Given the description of an element on the screen output the (x, y) to click on. 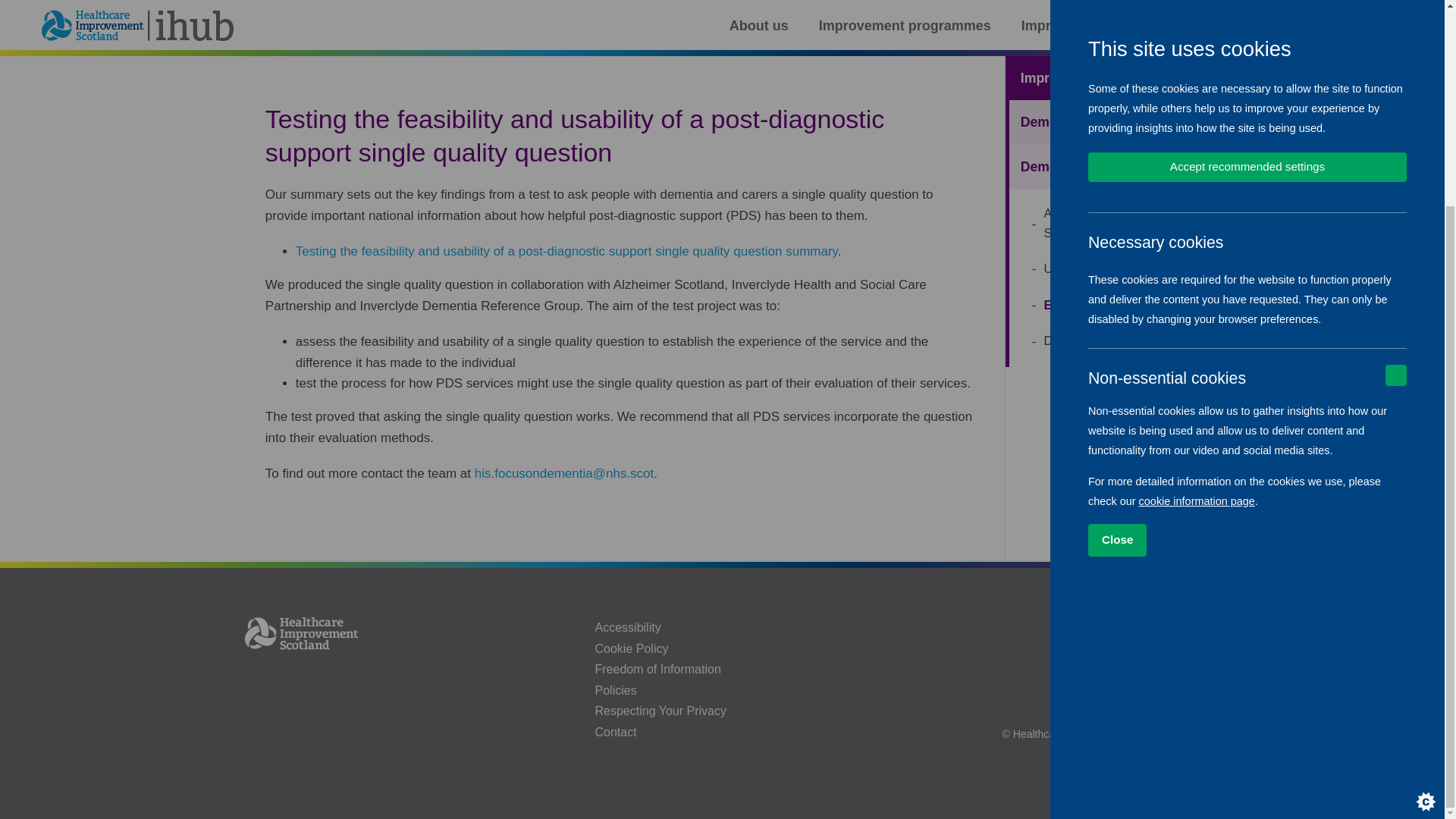
Improvement programmes (242, 35)
Dementia Diagnosis and Post-diagnostic Support (624, 35)
Close (1256, 274)
Dementia Programmes (402, 35)
Home (130, 35)
